Given the description of an element on the screen output the (x, y) to click on. 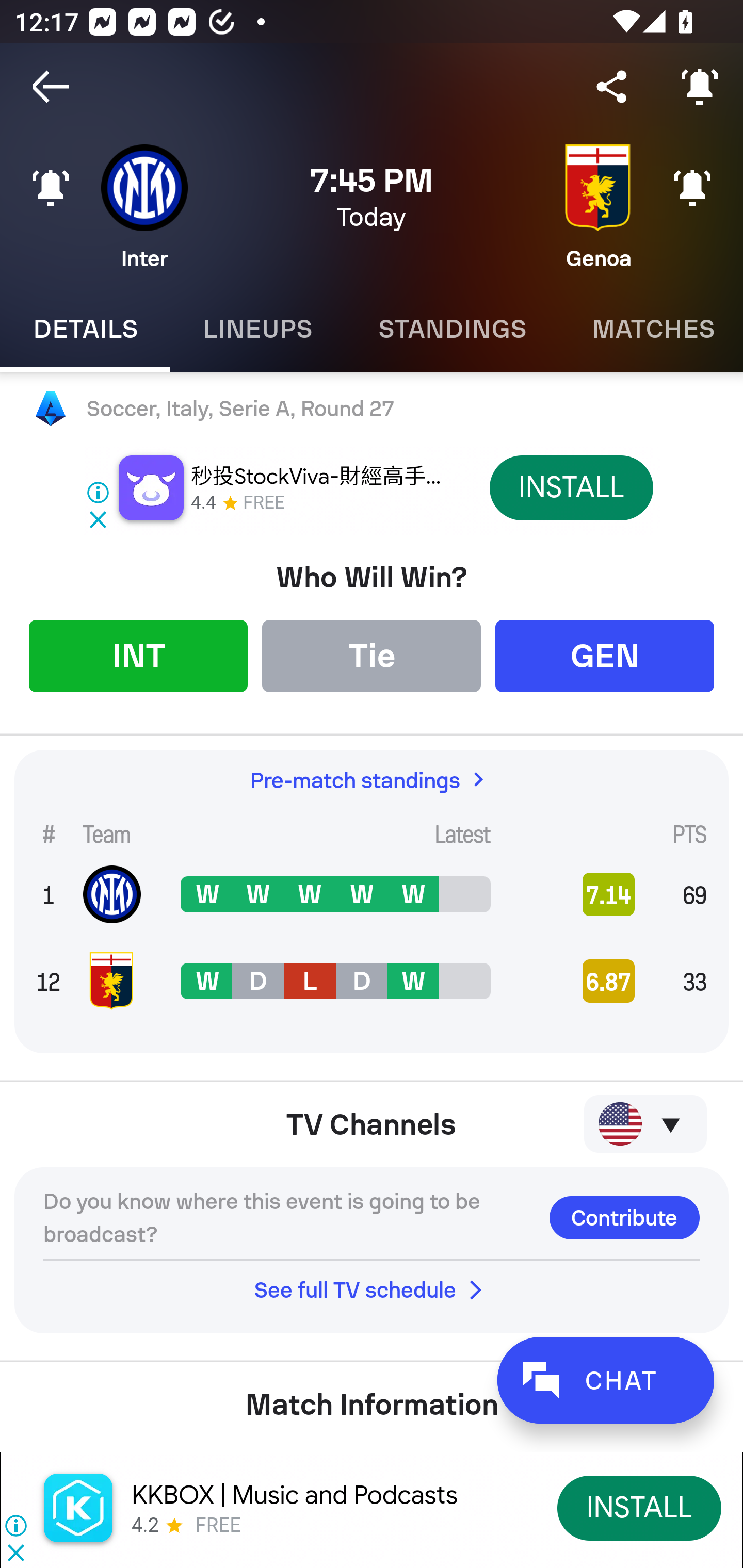
Navigate up (50, 86)
Lineups LINEUPS (257, 329)
Standings STANDINGS (451, 329)
Matches MATCHES (650, 329)
Soccer, Italy, Serie A, Round 27 (371, 409)
INSTALL (570, 487)
秒投StockViva-財經高手… (315, 476)
INT (137, 655)
Tie (371, 655)
GEN (604, 655)
Contribute (624, 1217)
See full TV schedule (371, 1289)
CHAT (605, 1380)
INSTALL (639, 1507)
KKBOX | Music and Podcasts (294, 1494)
